Given the description of an element on the screen output the (x, y) to click on. 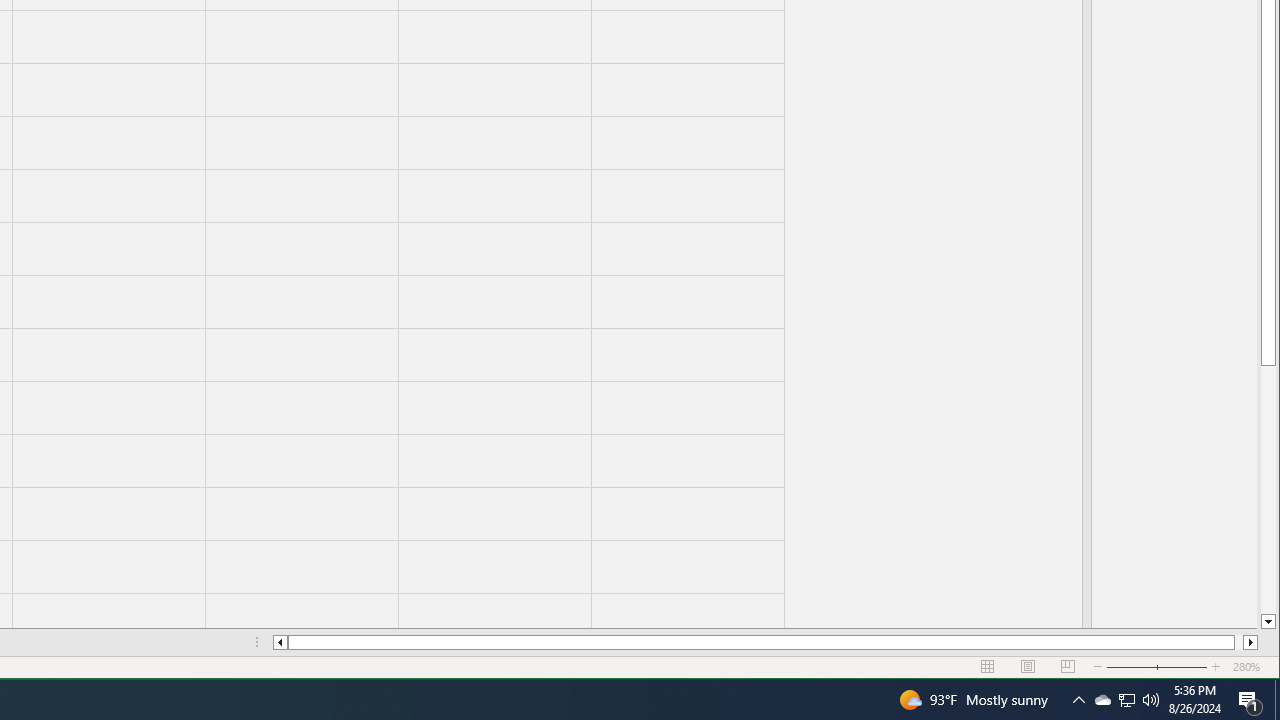
User Promoted Notification Area (1126, 699)
Action Center, 1 new notification (1250, 699)
Q2790: 100% (1151, 699)
Page down (1268, 489)
Show desktop (1102, 699)
